Given the description of an element on the screen output the (x, y) to click on. 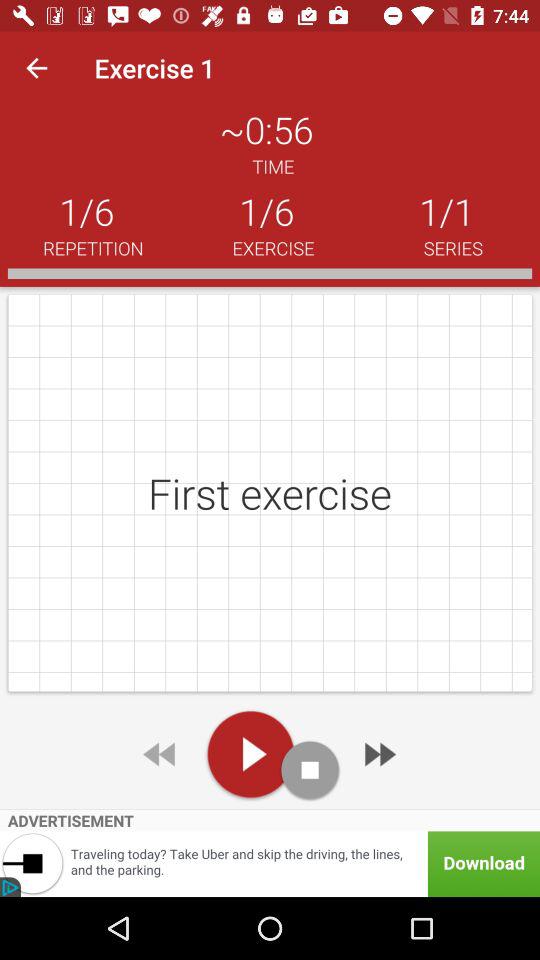
click on the forward arrow button (378, 754)
select a image with a text first exercise on page (269, 493)
click on the stop button (310, 770)
